Given the description of an element on the screen output the (x, y) to click on. 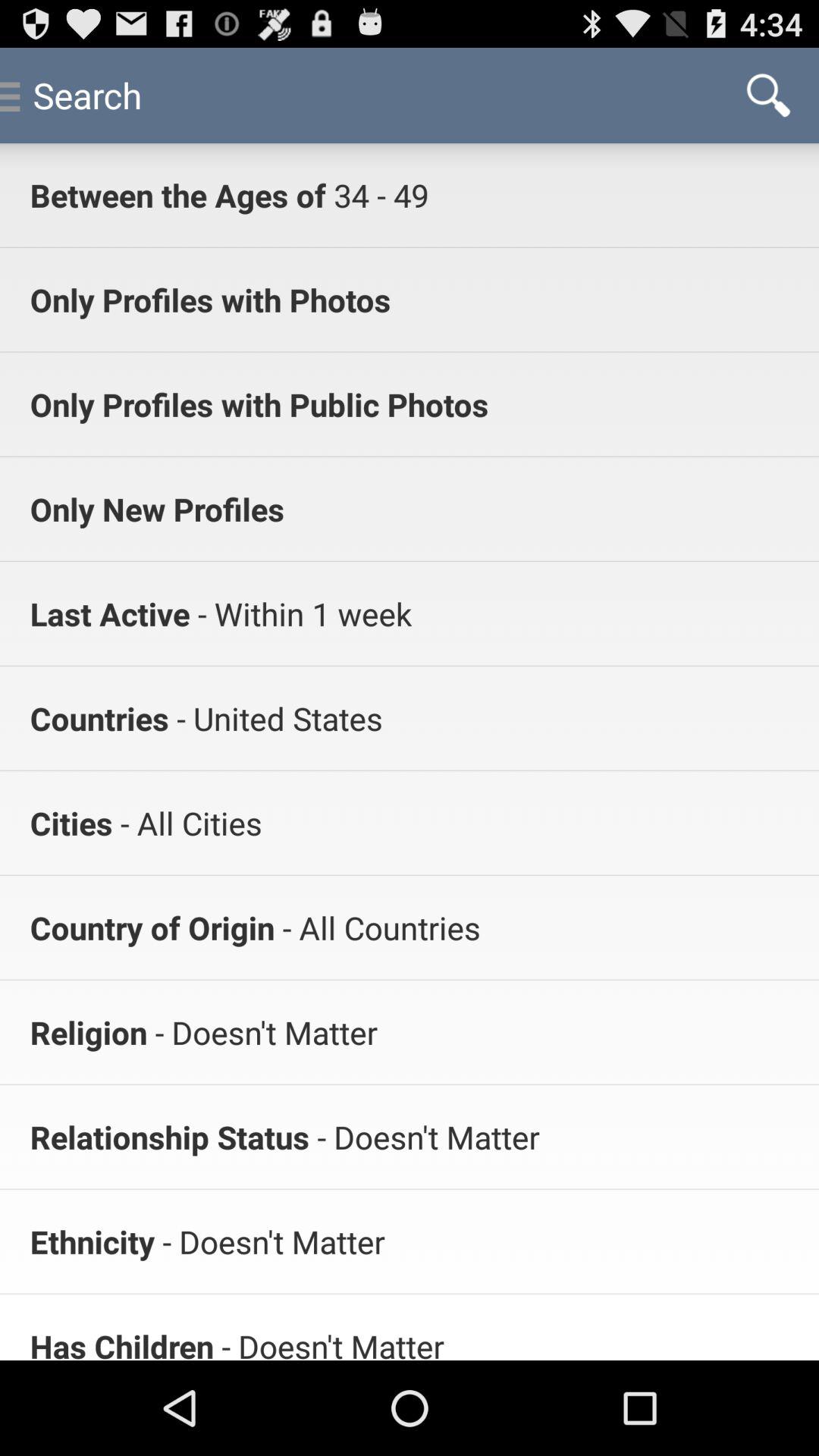
choose app next to countries icon (275, 717)
